Given the description of an element on the screen output the (x, y) to click on. 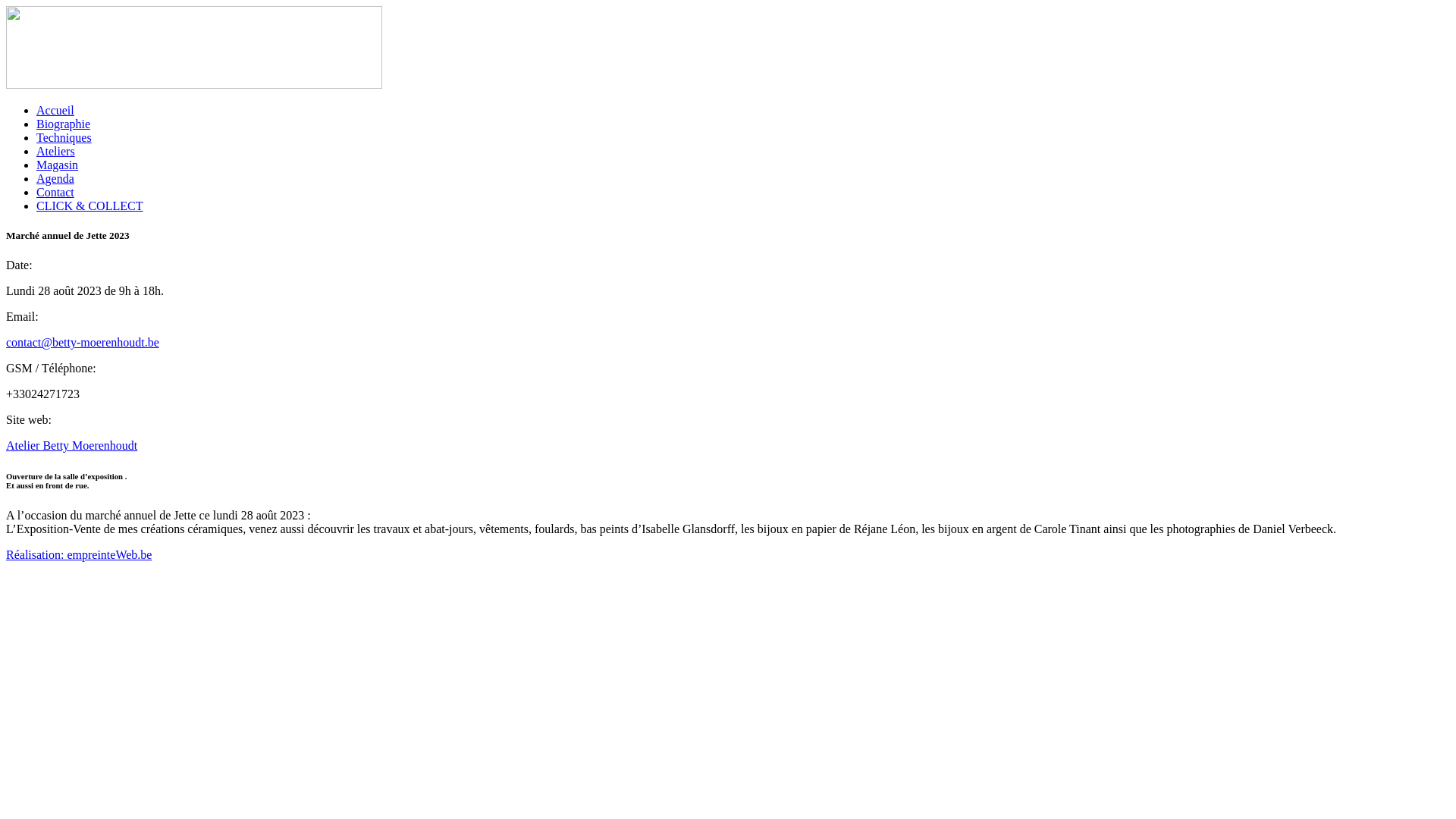
contact@betty-moerenhoudt.be Element type: text (82, 341)
Biographie Element type: text (63, 123)
Agenda Element type: text (55, 178)
Magasin Element type: text (57, 164)
Ateliers Element type: text (55, 150)
Techniques Element type: text (63, 137)
Contact Element type: text (55, 191)
Accueil Element type: text (55, 109)
CLICK & COLLECT Element type: text (89, 205)
Atelier Betty Moerenhoudt Element type: text (71, 445)
